Given the description of an element on the screen output the (x, y) to click on. 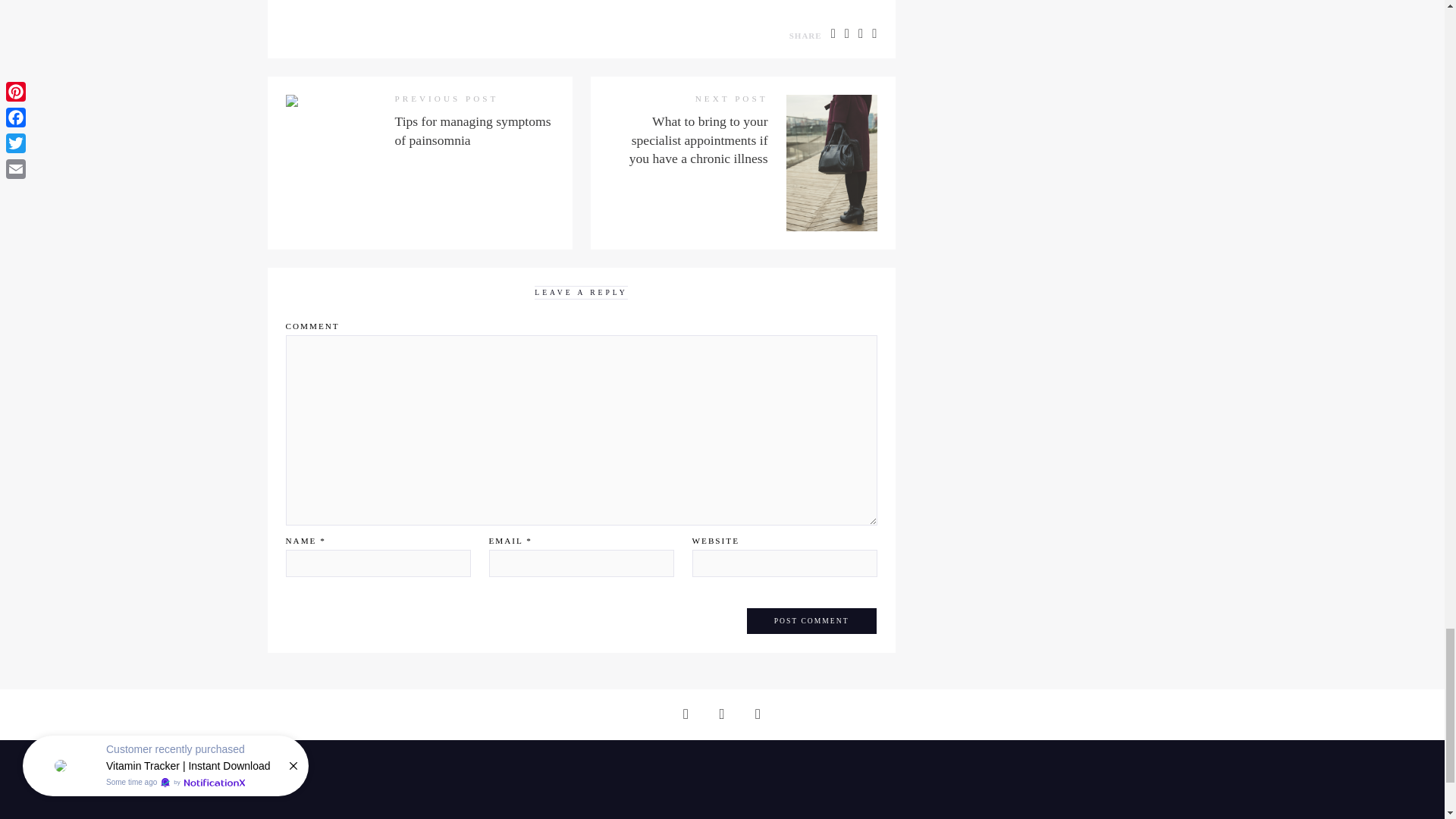
Tips for managing symptoms of painsomnia (472, 130)
Post Comment (811, 620)
